Given the description of an element on the screen output the (x, y) to click on. 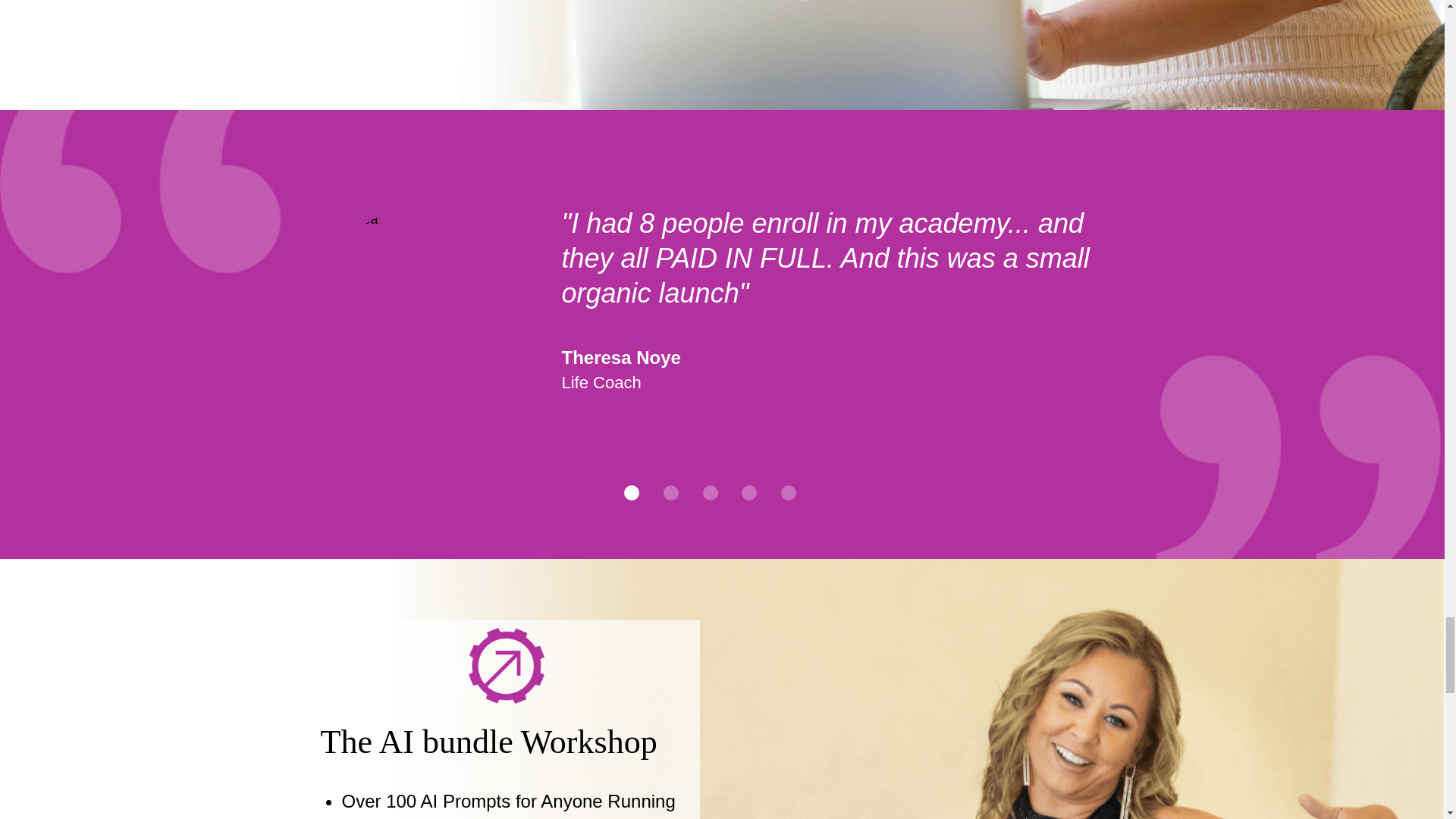
5 (788, 492)
3 (710, 492)
4 (749, 492)
2 (670, 492)
1 (631, 492)
